Given the description of an element on the screen output the (x, y) to click on. 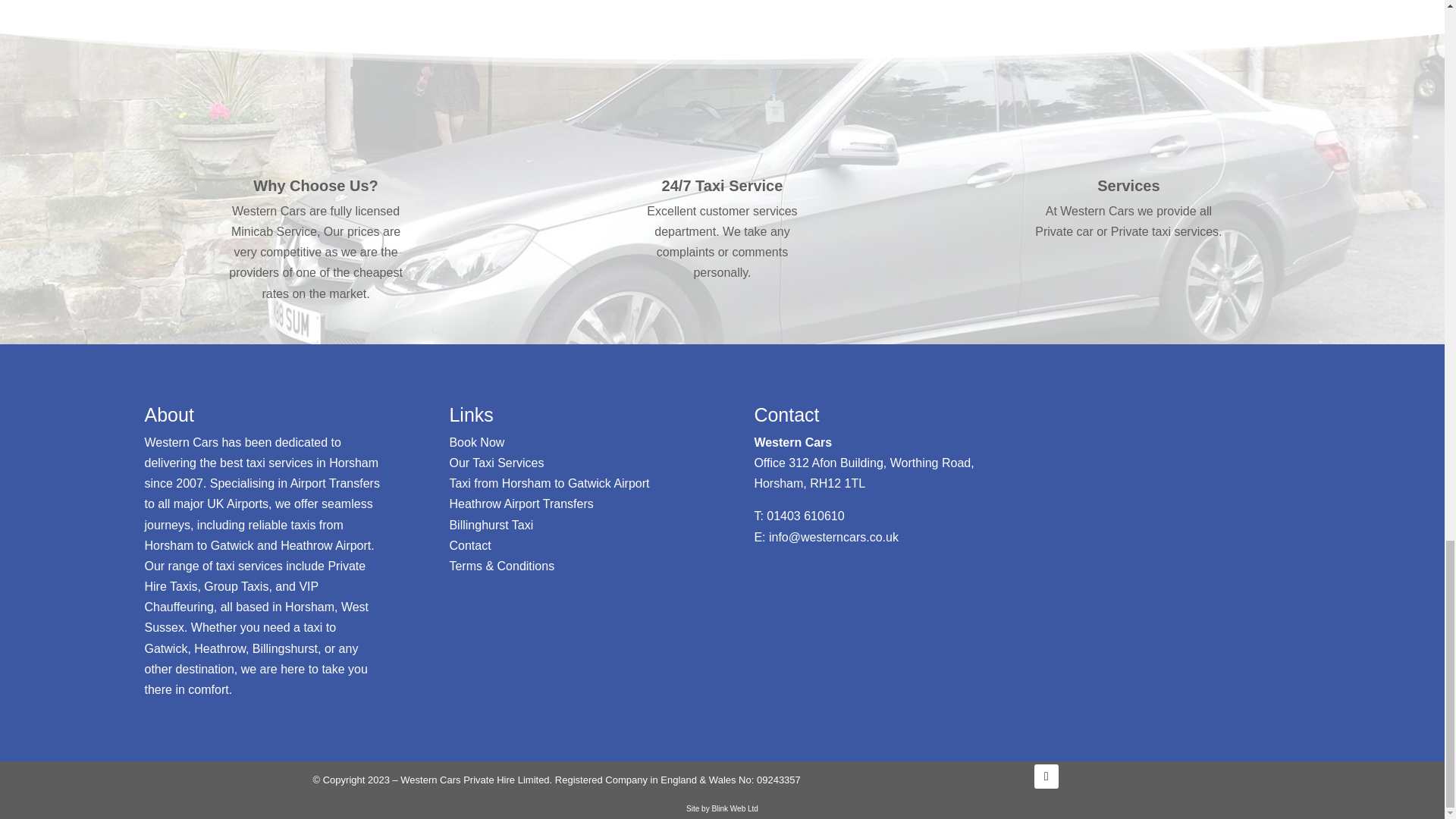
Site by Blink Web Ltd (721, 808)
01403 610610 (805, 515)
Follow on Facebook (1045, 776)
Heathrow Airport Transfers (520, 503)
Billinghurst Taxi (490, 524)
Book Now (475, 441)
Contact (469, 545)
Our Taxi Services (495, 462)
Taxi from Horsham to Gatwick Airport (548, 482)
